Given the description of an element on the screen output the (x, y) to click on. 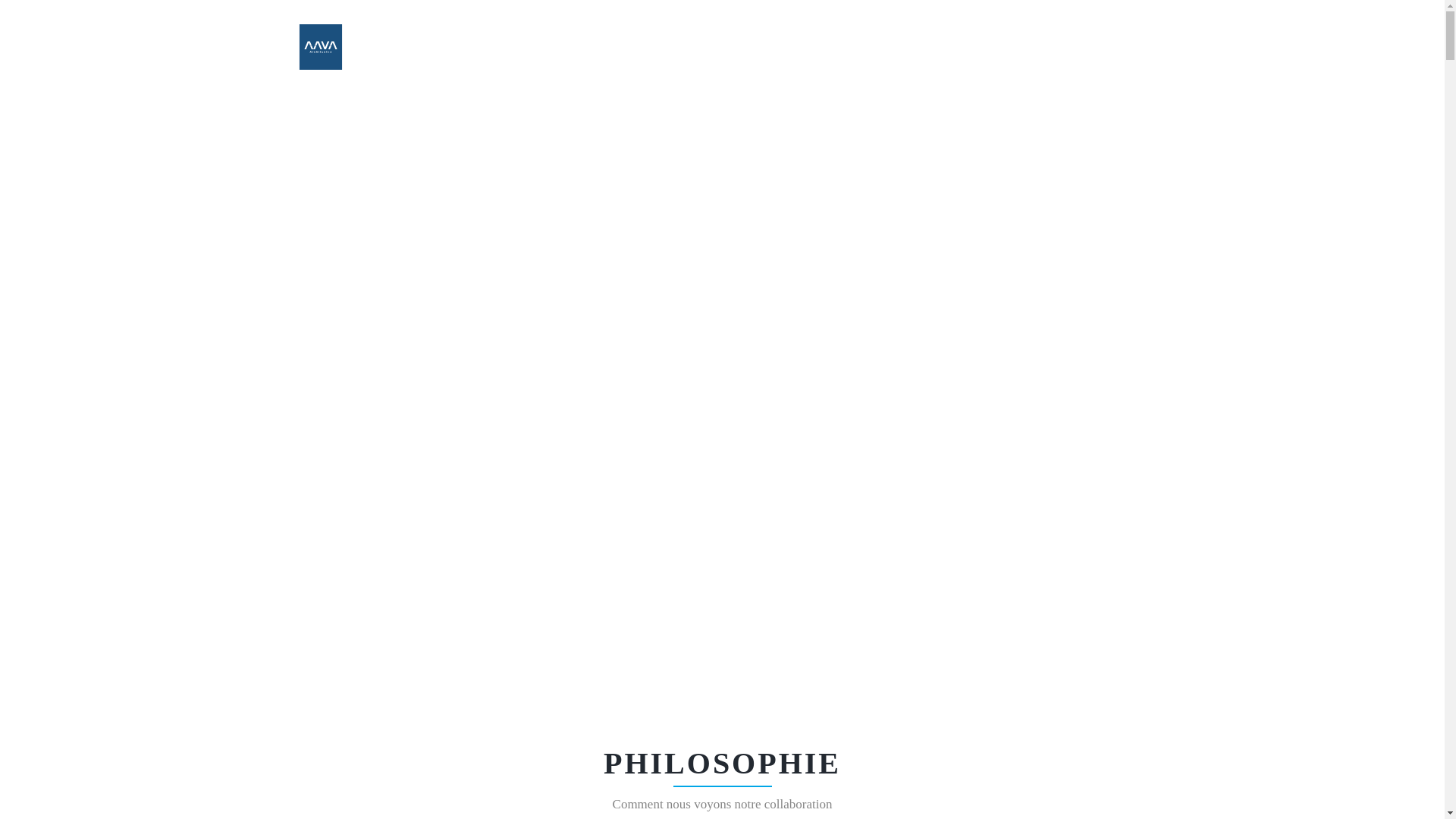
FACEBOOK Element type: text (1082, 47)
PROJETS Element type: text (822, 46)
HISTORIQUE Element type: text (895, 46)
EQUIPE Element type: text (966, 46)
INSTAGRAM Element type: text (1117, 47)
PHILOSOPHIE Element type: text (592, 46)
CONTACT Element type: text (1029, 46)
SERVICES Element type: text (670, 46)
